Given the description of an element on the screen output the (x, y) to click on. 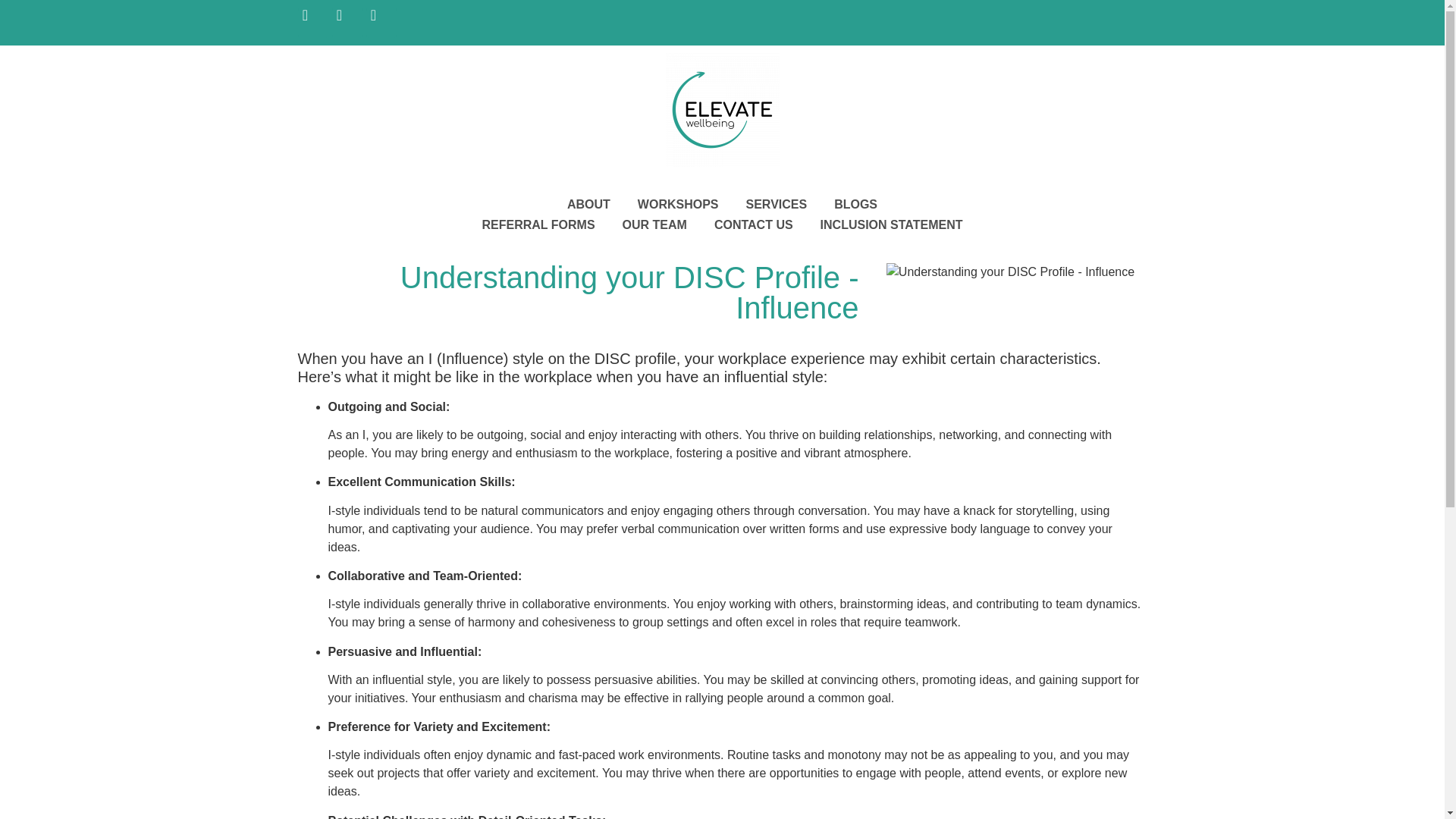
WORKSHOPS (678, 204)
INCLUSION STATEMENT (891, 224)
OUR TEAM (654, 224)
ABOUT (588, 204)
CONTACT US (753, 224)
REFERRAL FORMS (538, 224)
SERVICES (776, 204)
BLOGS (856, 204)
